Given the description of an element on the screen output the (x, y) to click on. 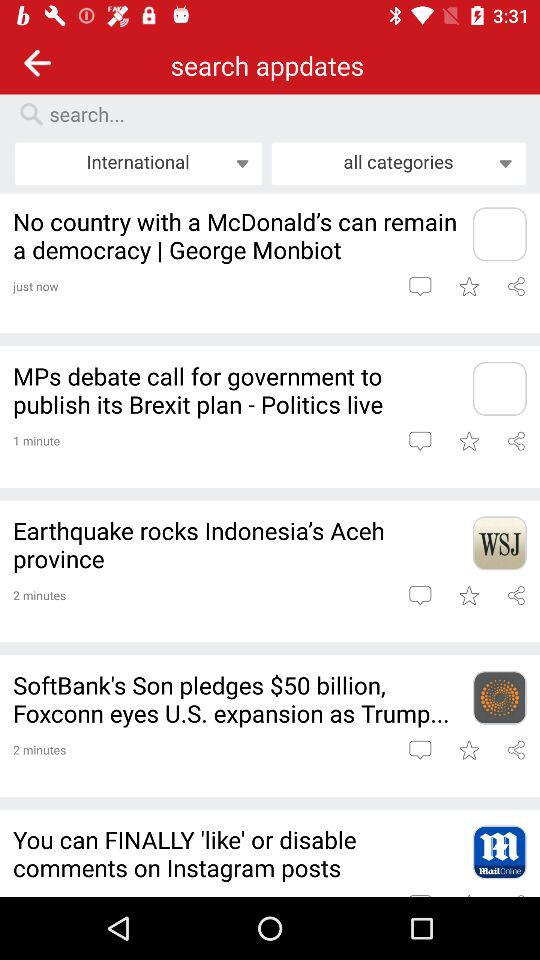
click to go to news site (499, 388)
